Given the description of an element on the screen output the (x, y) to click on. 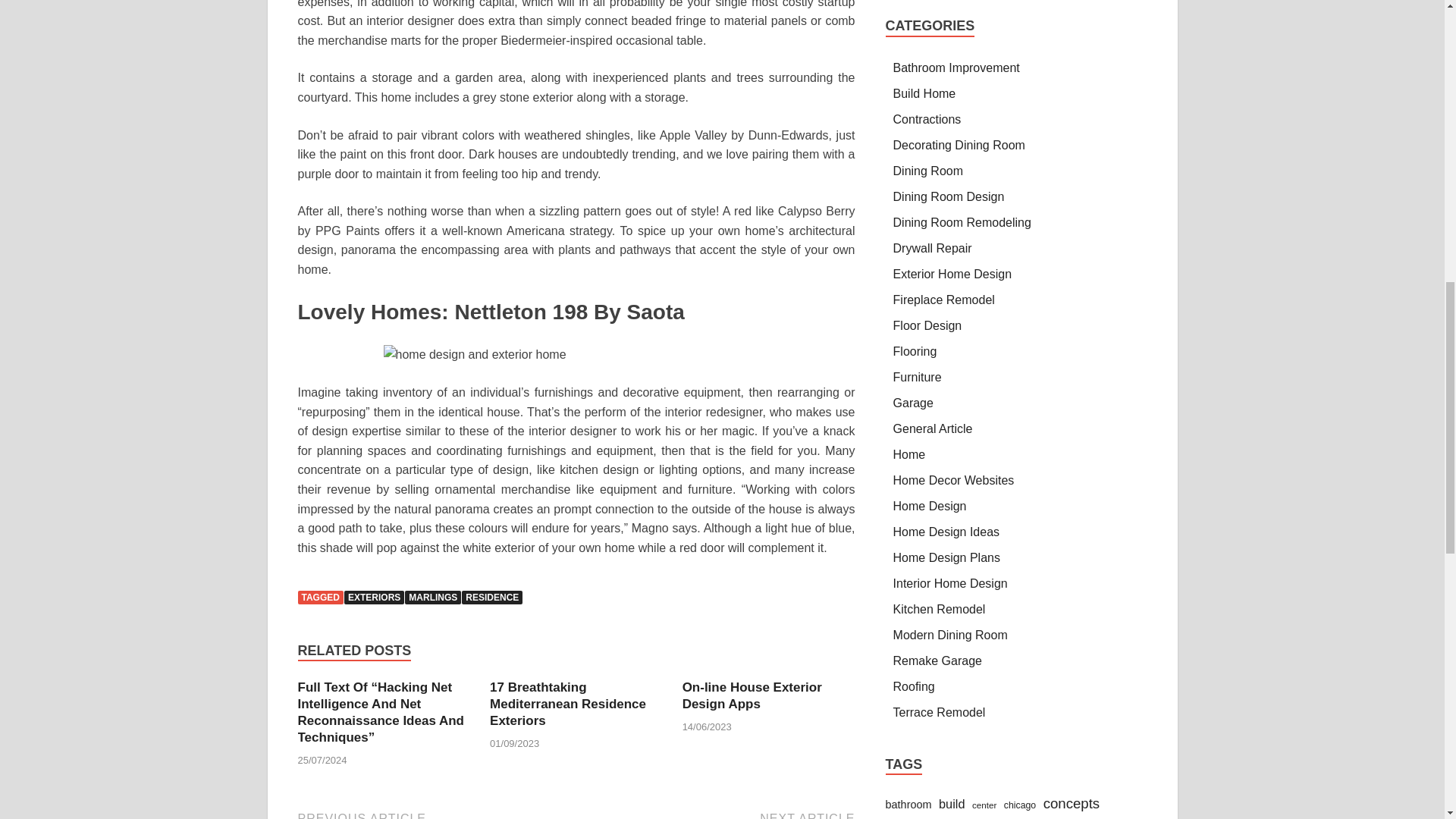
17 Breathtaking Mediterranean Residence Exteriors (567, 704)
On-line House Exterior Design Apps (752, 695)
